Given the description of an element on the screen output the (x, y) to click on. 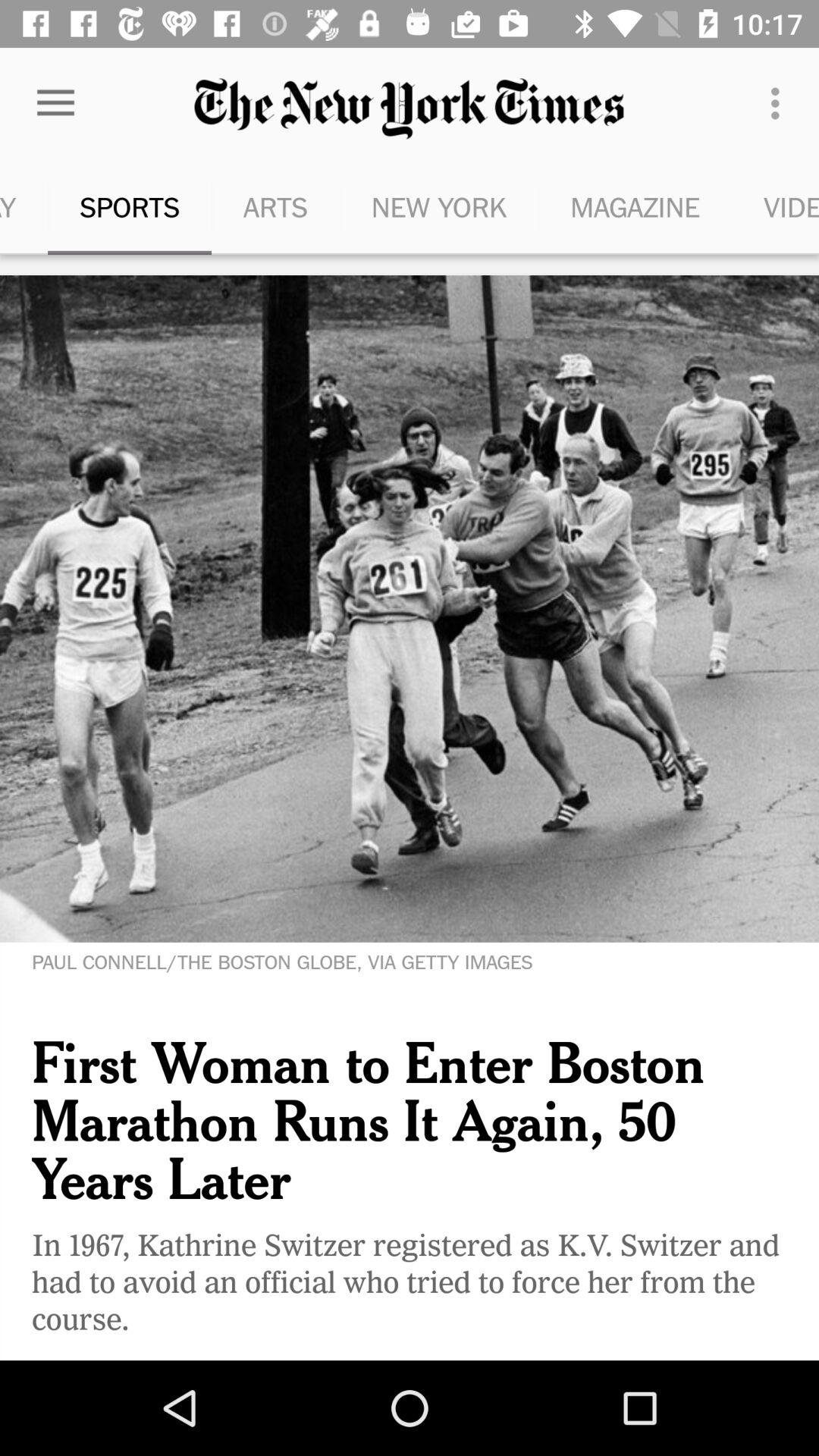
flip until business day icon (23, 206)
